Given the description of an element on the screen output the (x, y) to click on. 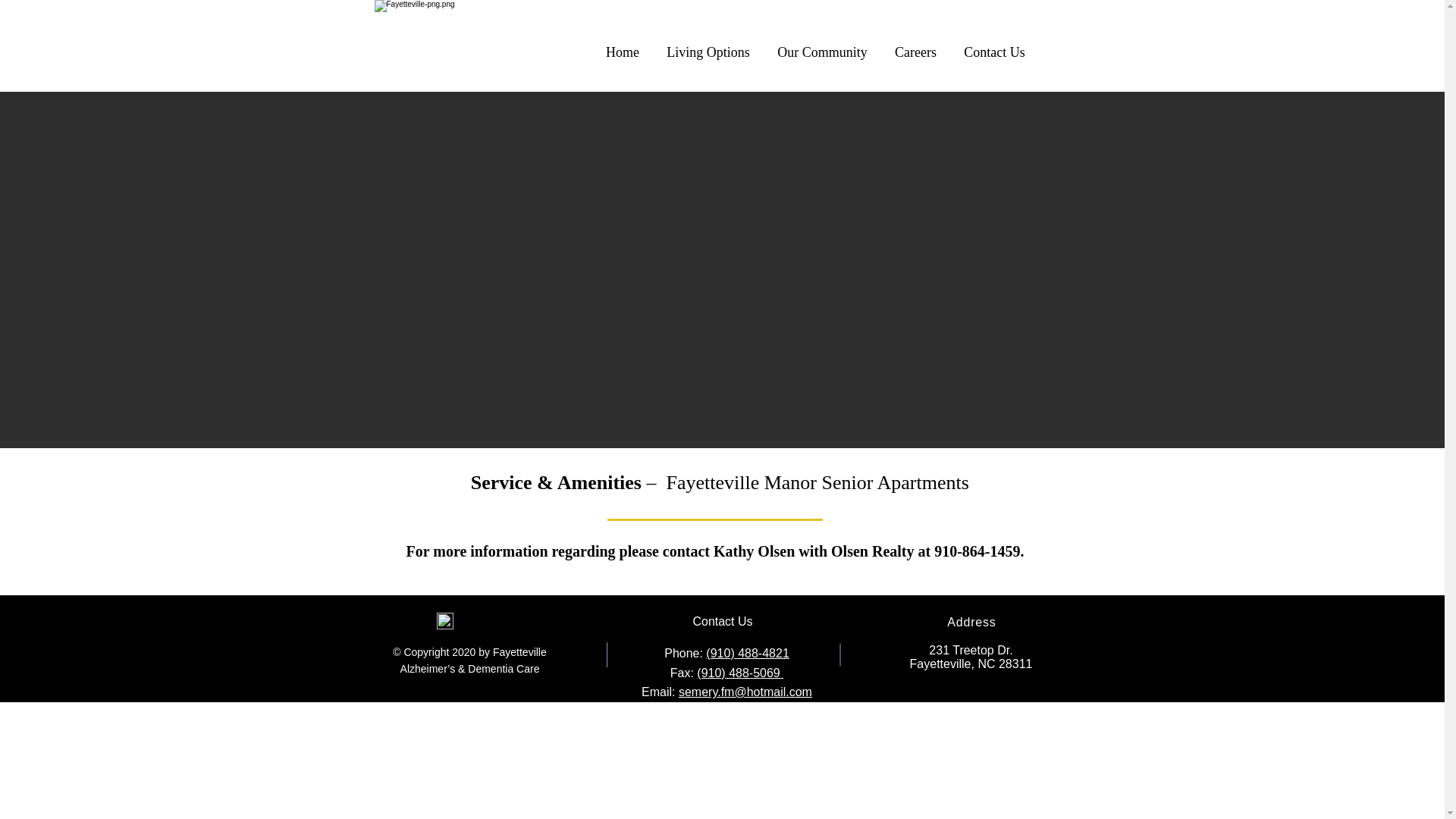
Careers (915, 45)
Our Community (821, 45)
Contact Us (994, 45)
Living Options (707, 45)
Home (622, 45)
